Given the description of an element on the screen output the (x, y) to click on. 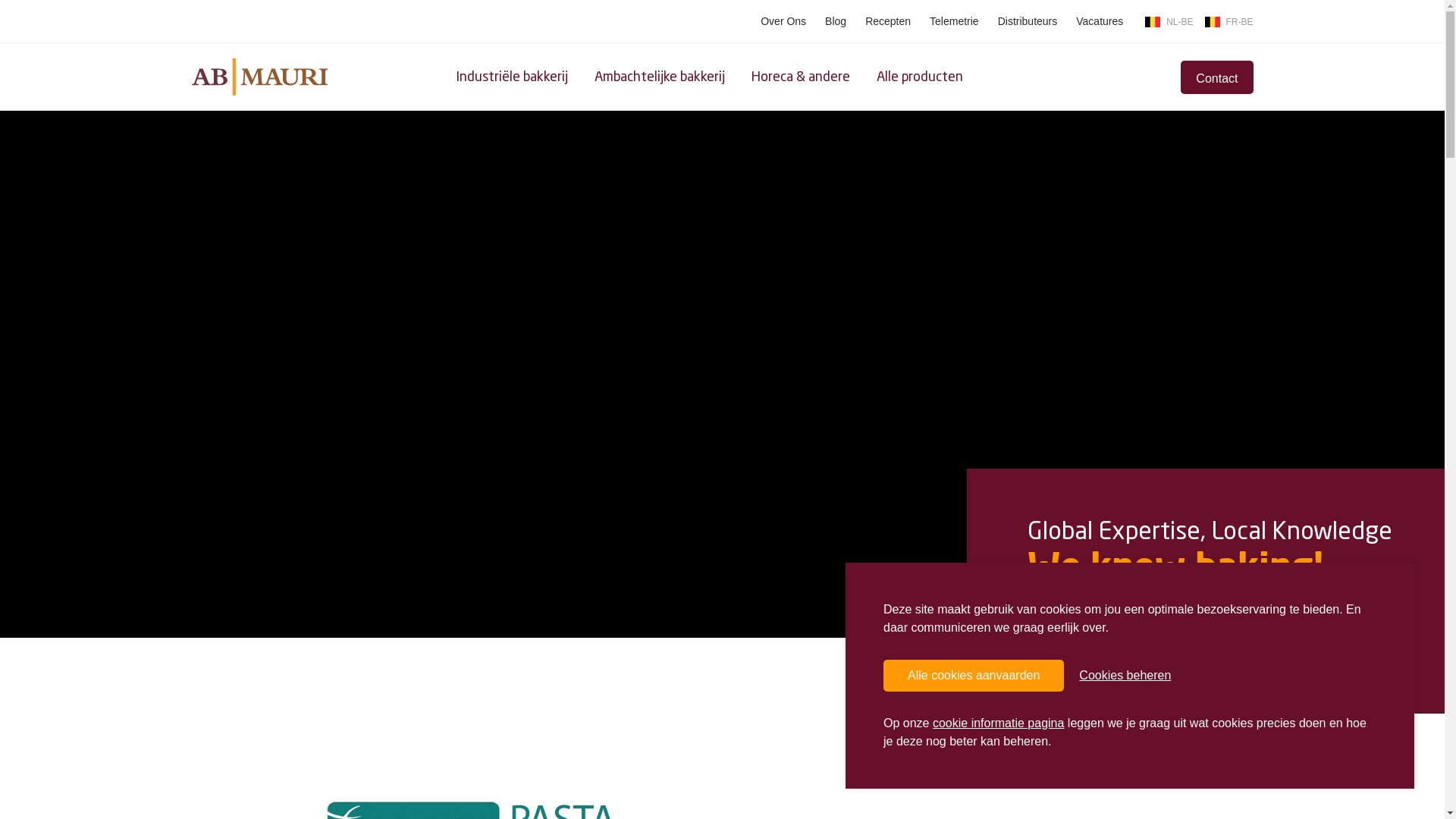
Distributeurs Element type: text (1027, 21)
FR-BE Element type: text (1228, 21)
Telemetrie Element type: text (954, 21)
Recepten Element type: text (1232, 638)
Vacatures Element type: text (1099, 21)
Ambachtelijke bakkerij Element type: text (659, 77)
cookie informatie pagina Element type: text (997, 722)
Over Ons Element type: text (783, 21)
Contact Element type: text (1216, 77)
NL-BE Element type: text (1168, 21)
Onze producten Element type: text (1094, 638)
Blog Element type: text (835, 21)
Alle cookies aanvaarden Element type: text (973, 675)
Horeca & andere Element type: text (799, 77)
Home Element type: hover (259, 74)
Alle producten Element type: text (919, 77)
Recepten Element type: text (887, 21)
